Given the description of an element on the screen output the (x, y) to click on. 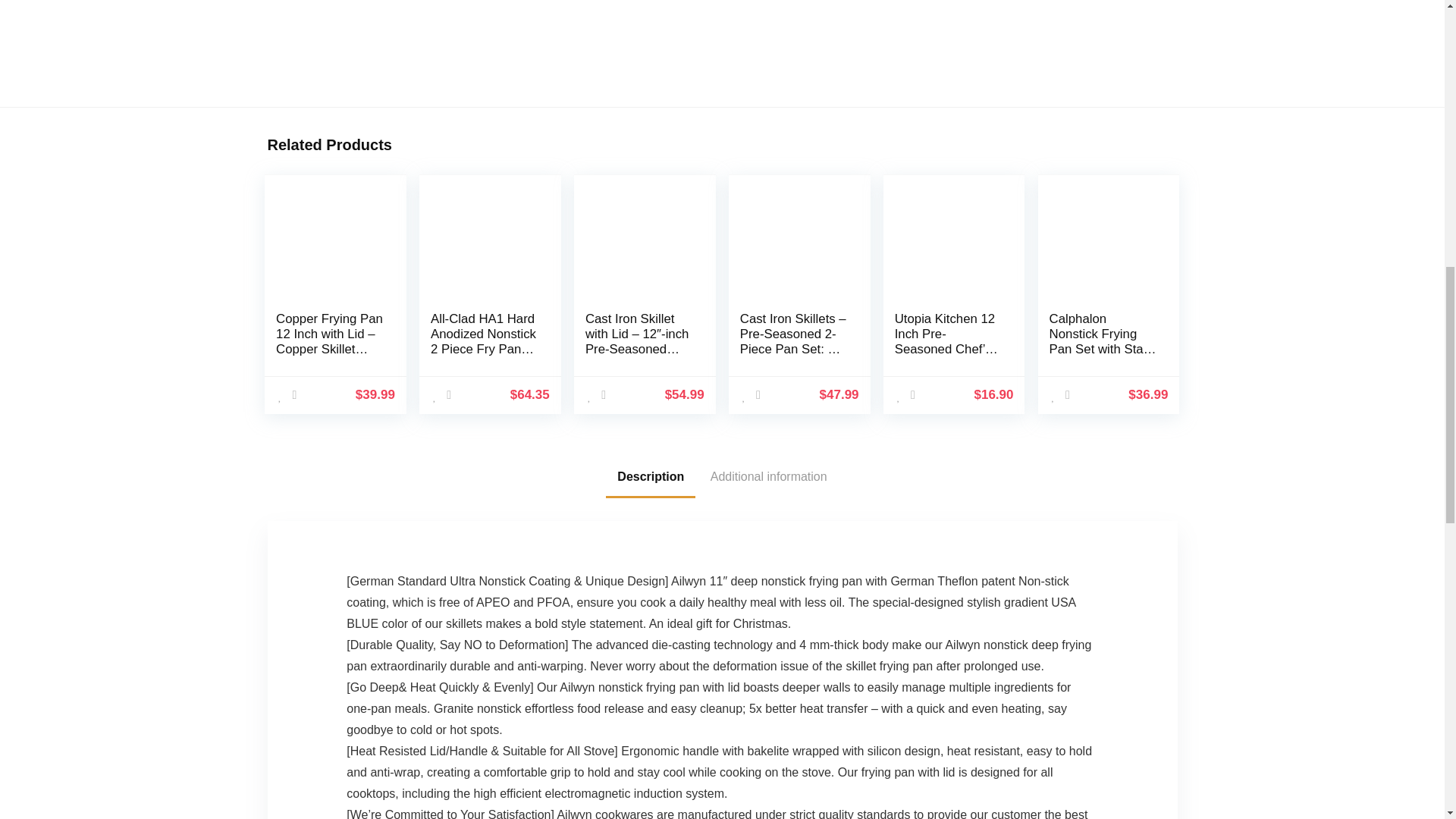
Description Additional information (721, 476)
